Given the description of an element on the screen output the (x, y) to click on. 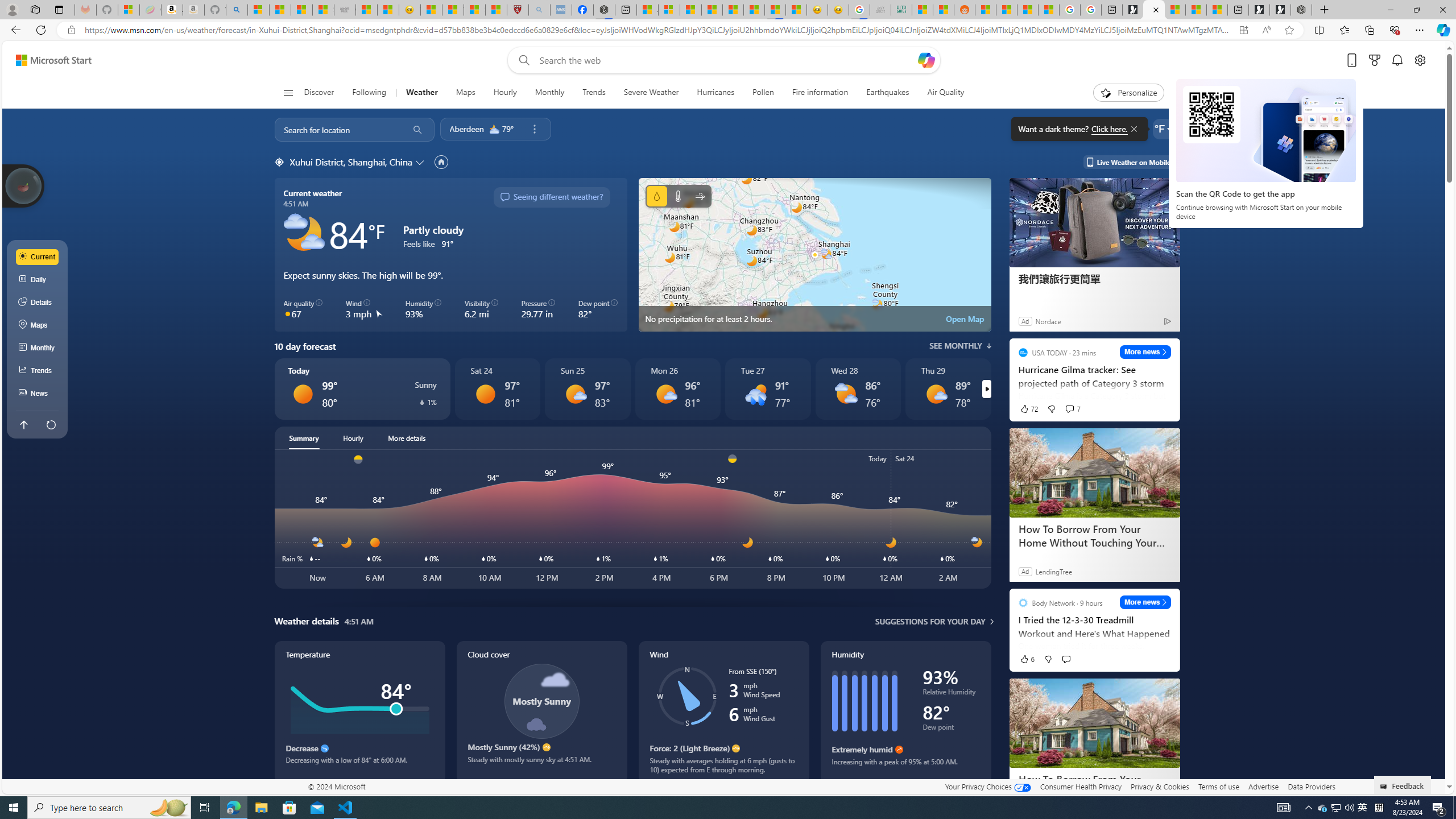
Temperature (678, 195)
Class: feedback_link_icon-DS-EntryPoint1-1 (1384, 786)
Search for location (337, 128)
Precipitation (422, 401)
Seeing different weather? (551, 196)
These 3 Stocks Pay You More Than 5% to Own Them (1216, 9)
Maps (465, 92)
